Given the description of an element on the screen output the (x, y) to click on. 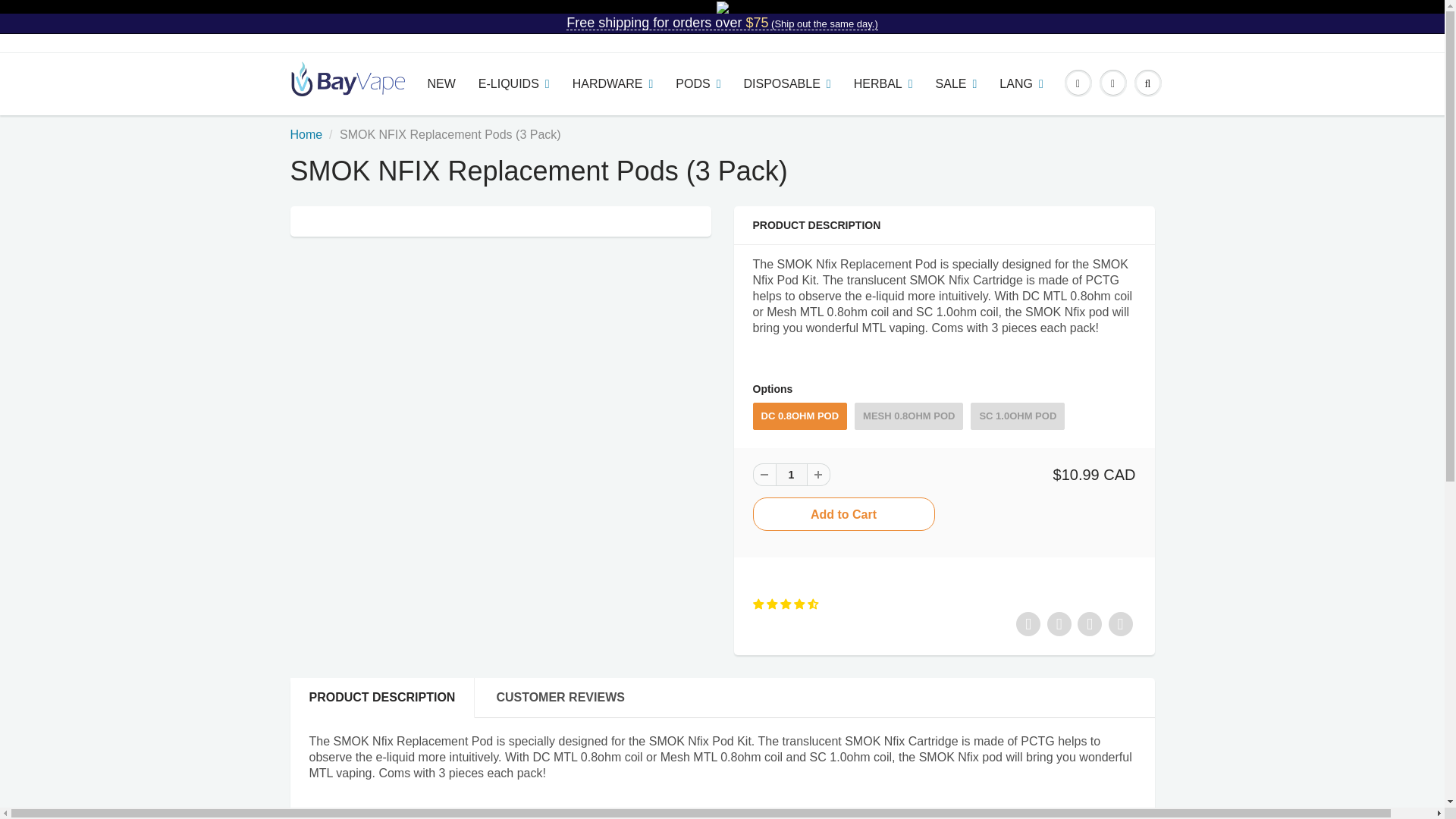
NEW (439, 84)
1 (790, 474)
Home (305, 133)
Add to Cart (843, 513)
E-LIQUIDS (513, 84)
